Given the description of an element on the screen output the (x, y) to click on. 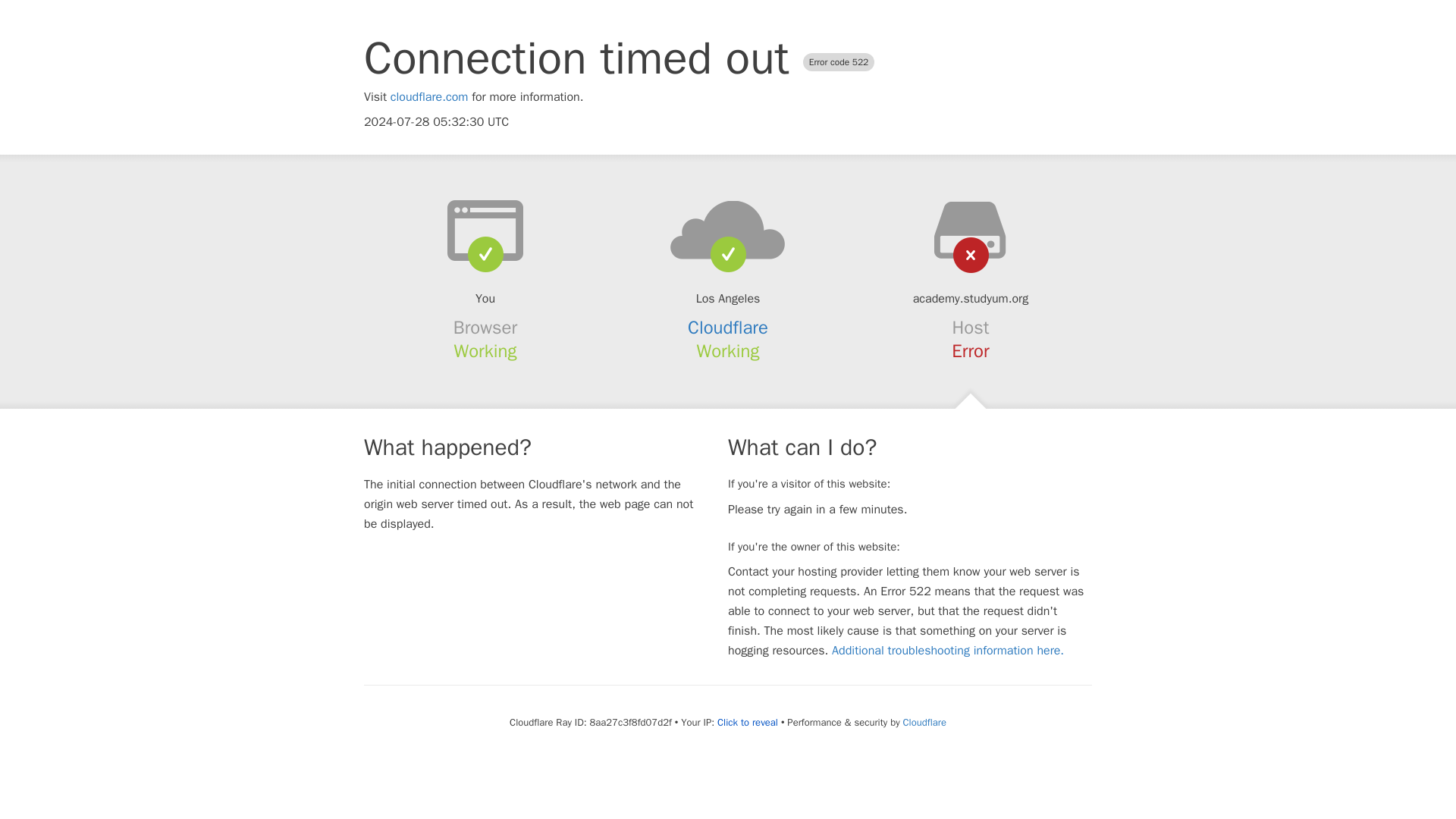
Additional troubleshooting information here. (947, 650)
Cloudflare (924, 721)
Cloudflare (727, 327)
Click to reveal (747, 722)
cloudflare.com (429, 96)
